Given the description of an element on the screen output the (x, y) to click on. 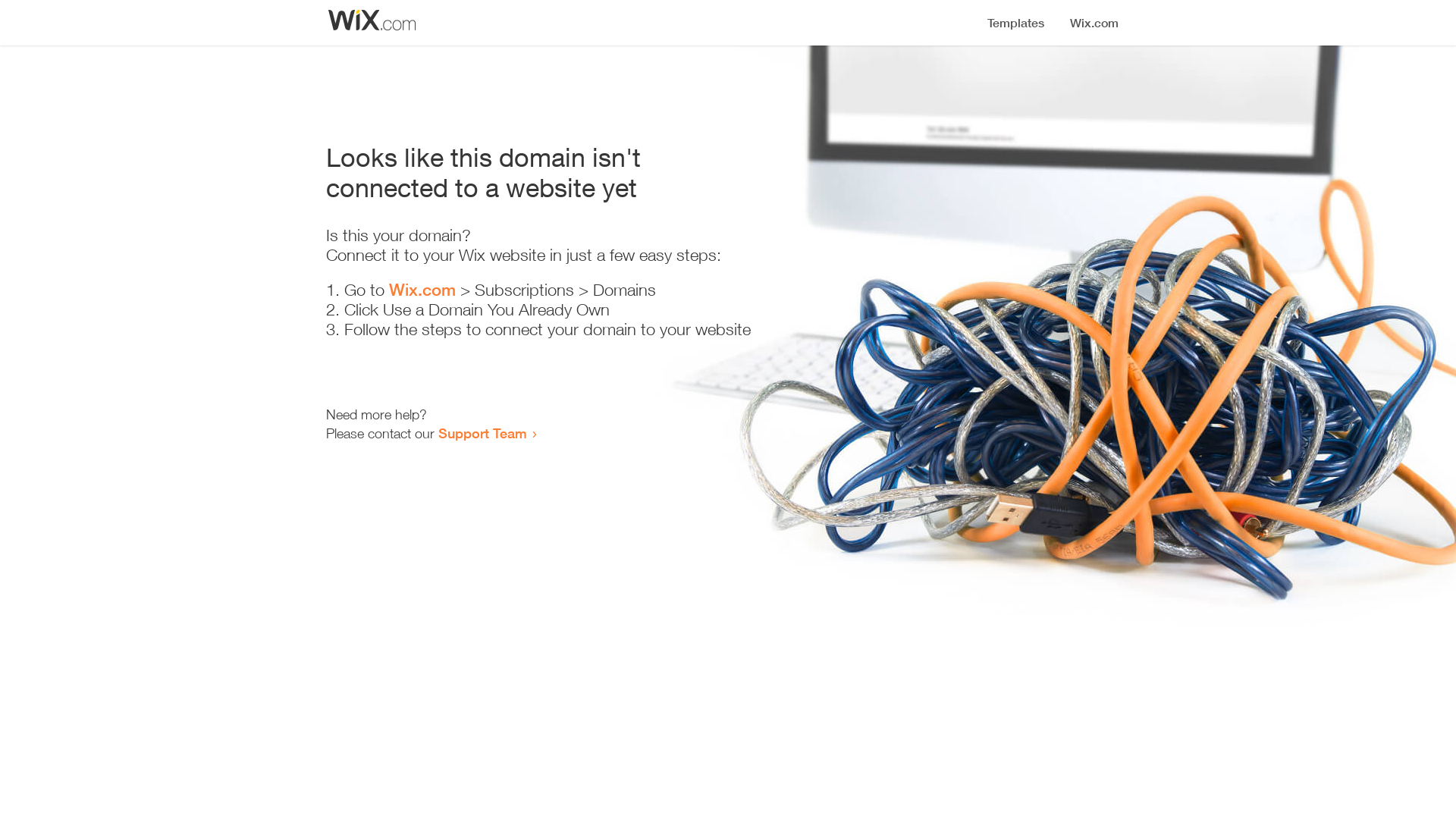
Support Team Element type: text (482, 432)
Wix.com Element type: text (422, 289)
